Given the description of an element on the screen output the (x, y) to click on. 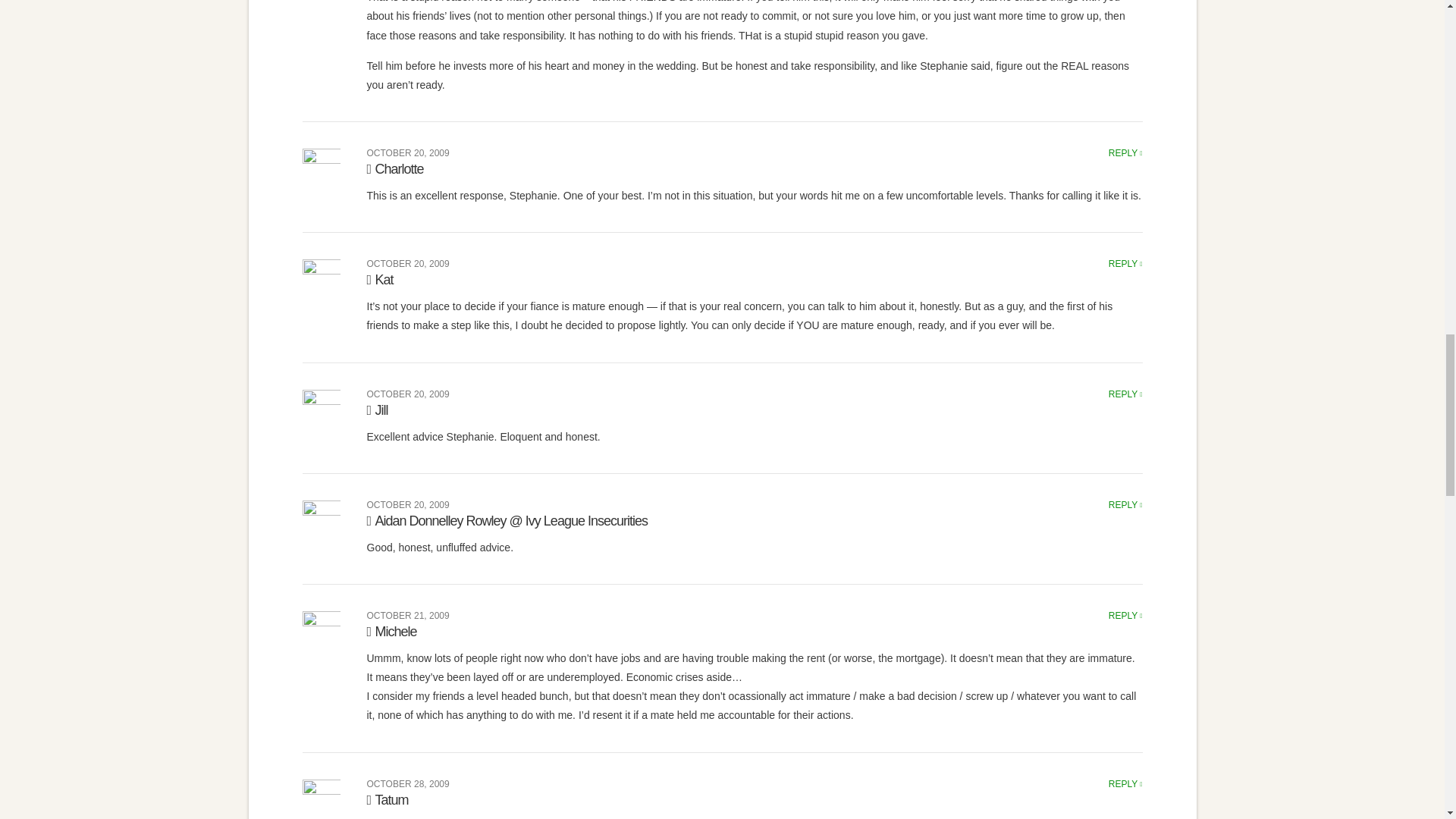
OCTOBER 20, 2009 (407, 393)
REPLY (1125, 153)
OCTOBER 21, 2009 (407, 614)
OCTOBER 20, 2009 (407, 153)
REPLY (1125, 393)
REPLY (1125, 263)
REPLY (1125, 614)
REPLY (1125, 783)
OCTOBER 28, 2009 (407, 783)
OCTOBER 20, 2009 (407, 504)
